Given the description of an element on the screen output the (x, y) to click on. 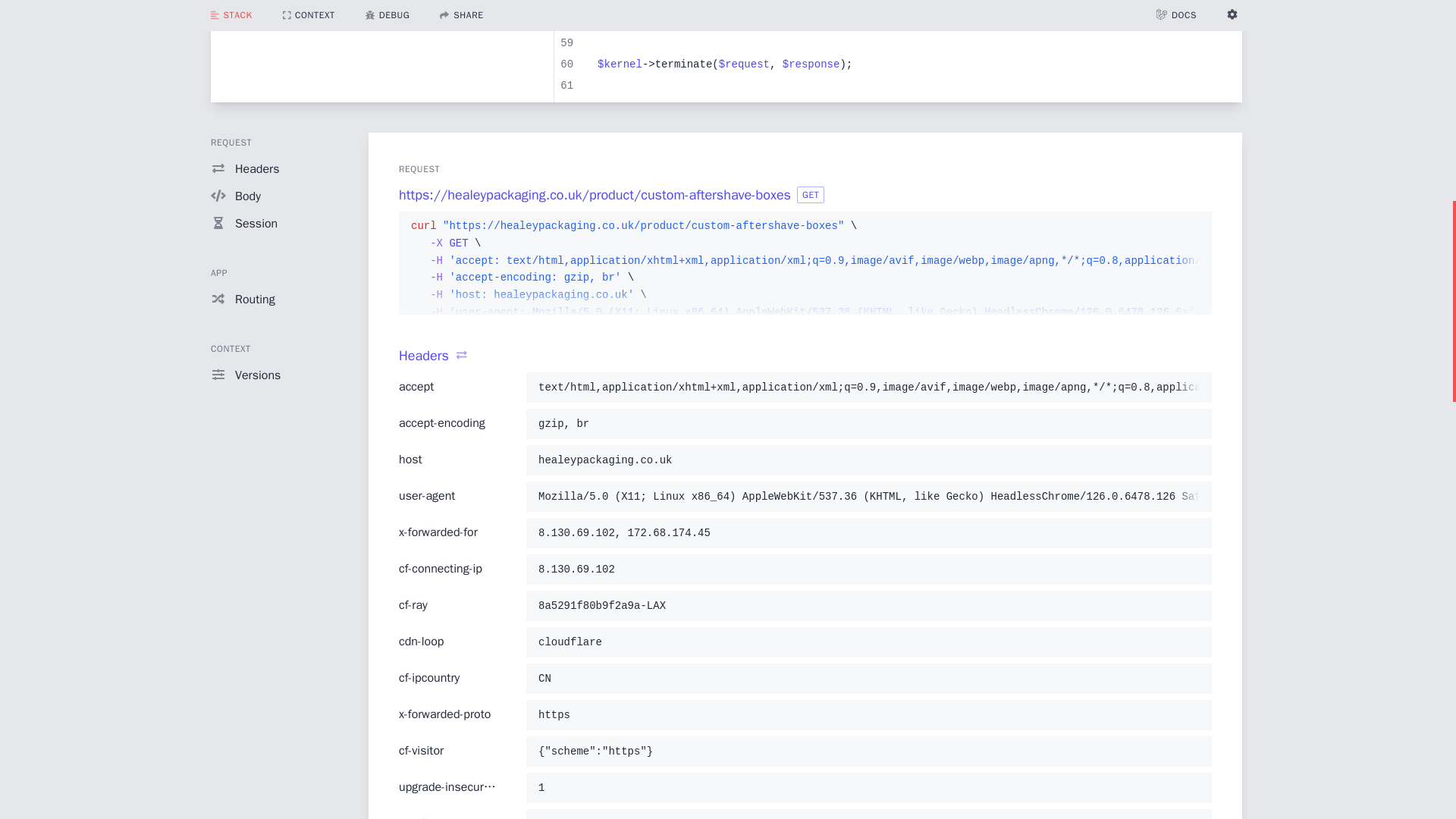
gzip, br (868, 423)
8.130.69.102 (868, 569)
1 (868, 787)
https (868, 714)
8.130.69.102, 172.68.174.45 (868, 533)
healeypackaging.co.uk (868, 460)
cloudflare (868, 642)
8a5291f80b9f2a9a-LAX (868, 606)
CN (868, 678)
